Given the description of an element on the screen output the (x, y) to click on. 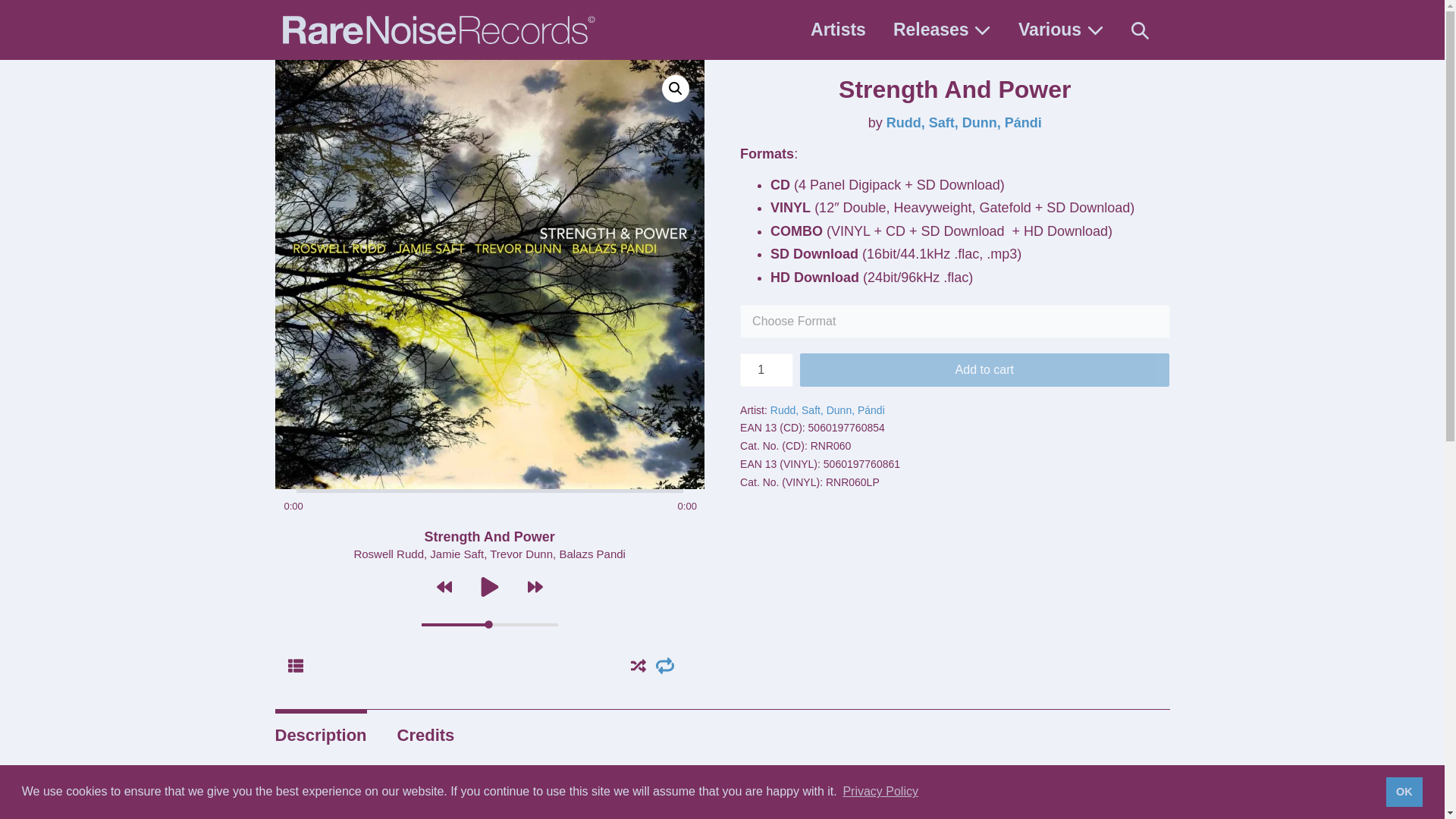
Various (1060, 29)
Search Toggle (1139, 29)
Artists (837, 29)
Releases (941, 29)
1 (766, 369)
RareNoiseRecords (438, 29)
